Given the description of an element on the screen output the (x, y) to click on. 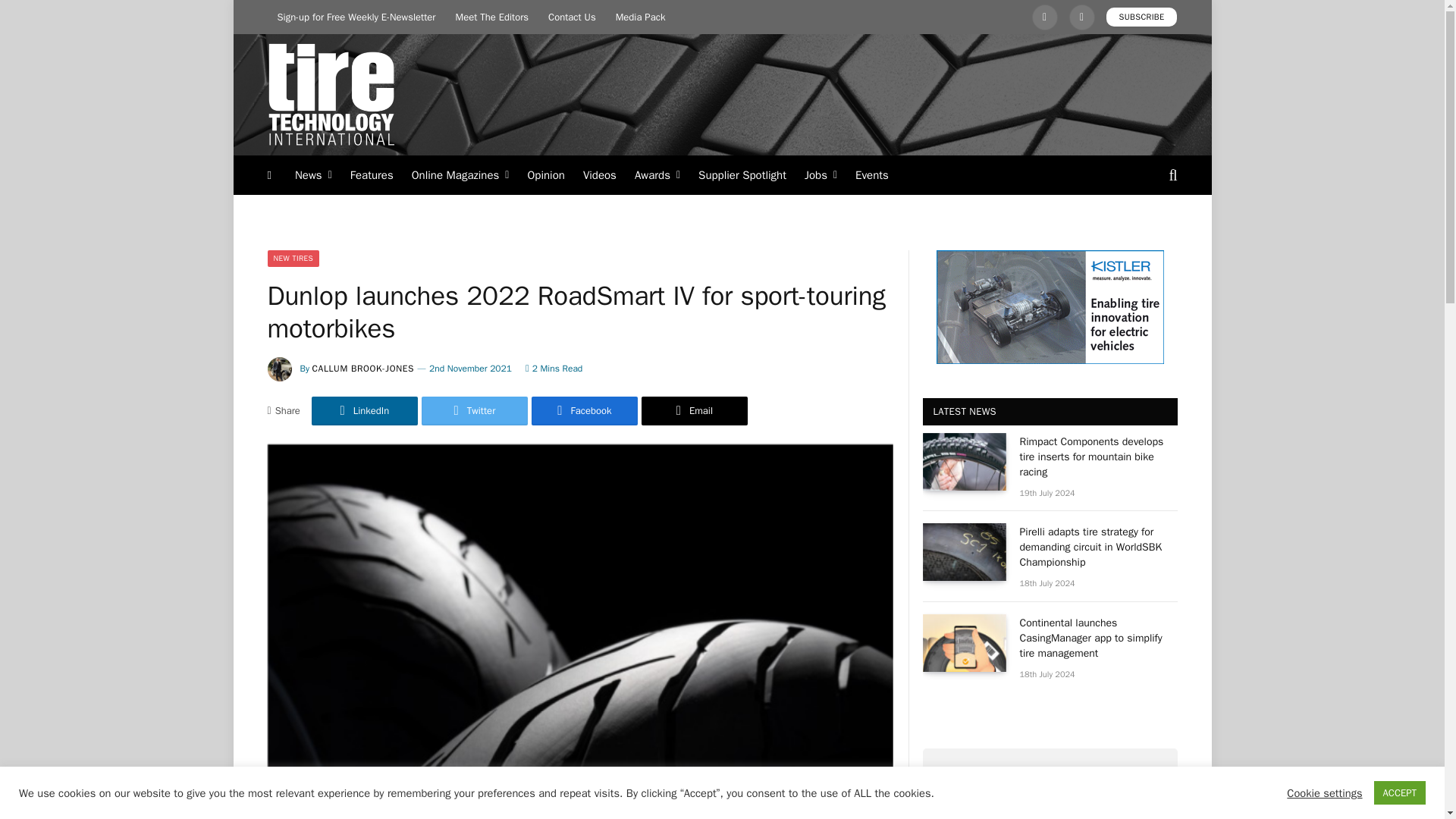
Tire Technology International (330, 94)
Share on Facebook (584, 410)
Posts by Callum Brook-Jones (363, 368)
Share on Twitter (474, 410)
Share via Email (695, 410)
Share on LinkedIn (364, 410)
